Given the description of an element on the screen output the (x, y) to click on. 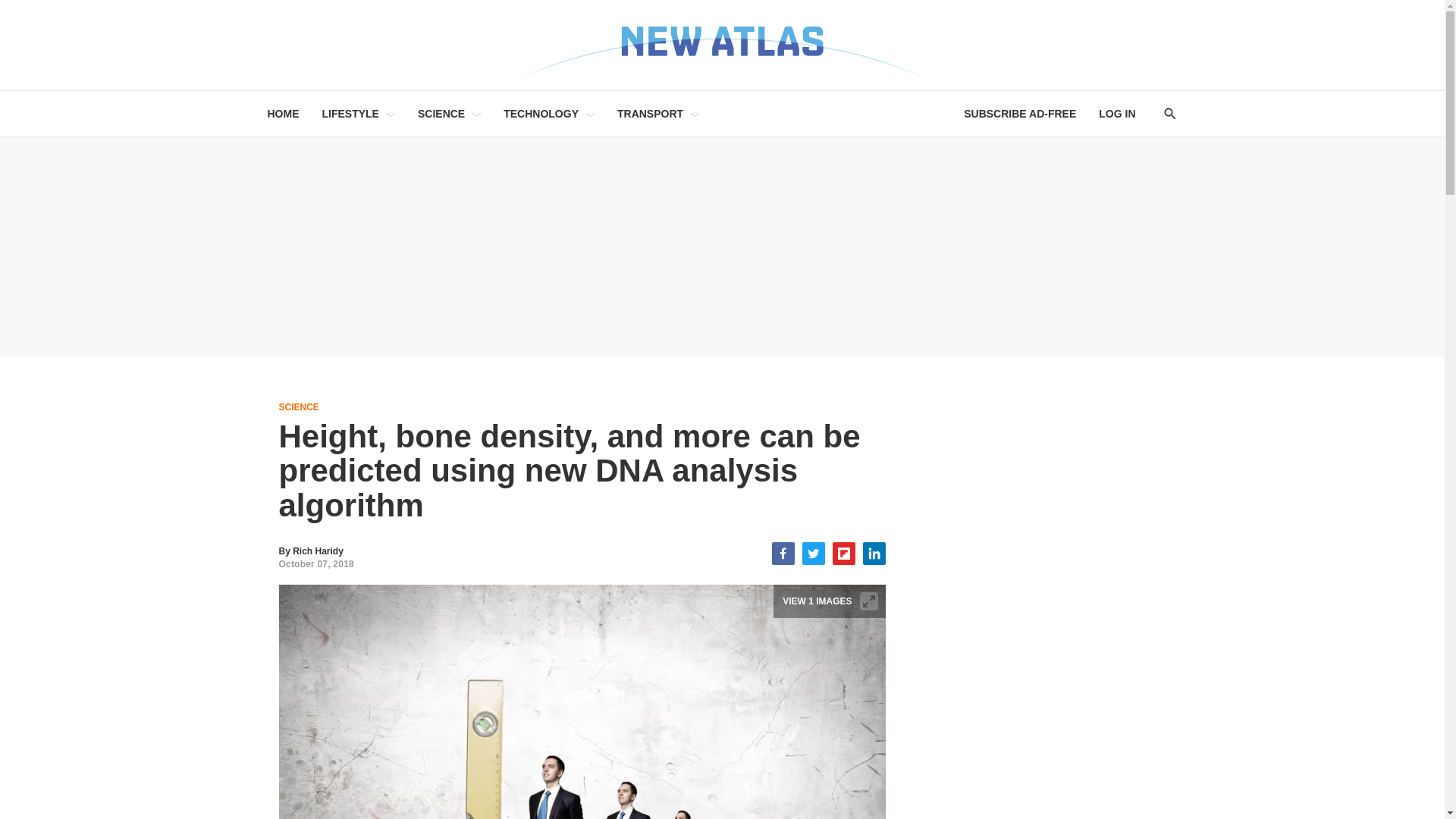
View full-screen (868, 601)
